Given the description of an element on the screen output the (x, y) to click on. 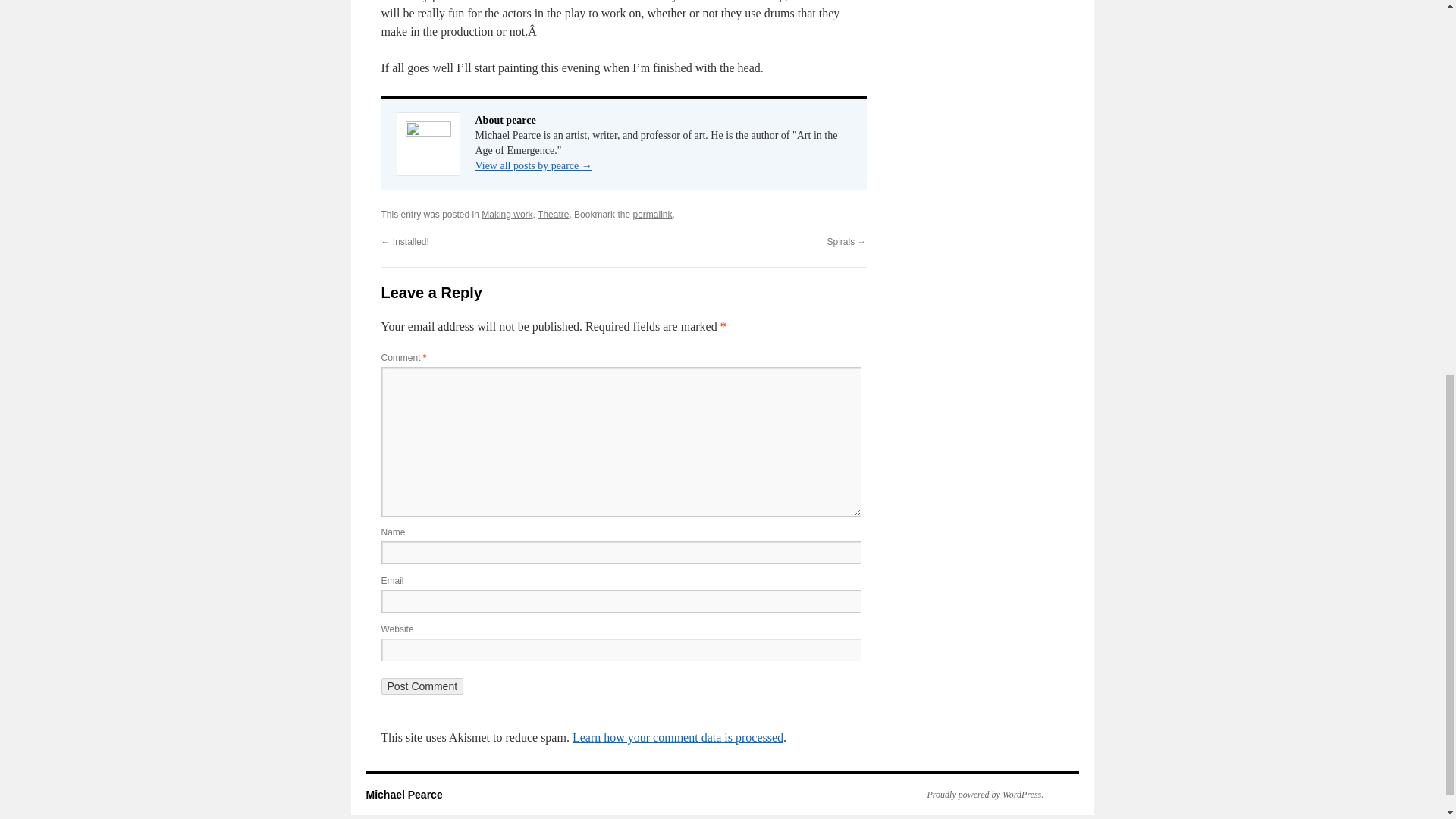
Permalink to Wheelhead (651, 214)
Making work (506, 214)
Post Comment (421, 686)
Michael Pearce (403, 794)
permalink (651, 214)
Learn how your comment data is processed (677, 737)
Post Comment (421, 686)
Theatre (553, 214)
Michael Pearce (403, 794)
Semantic Personal Publishing Platform (977, 794)
